Given the description of an element on the screen output the (x, y) to click on. 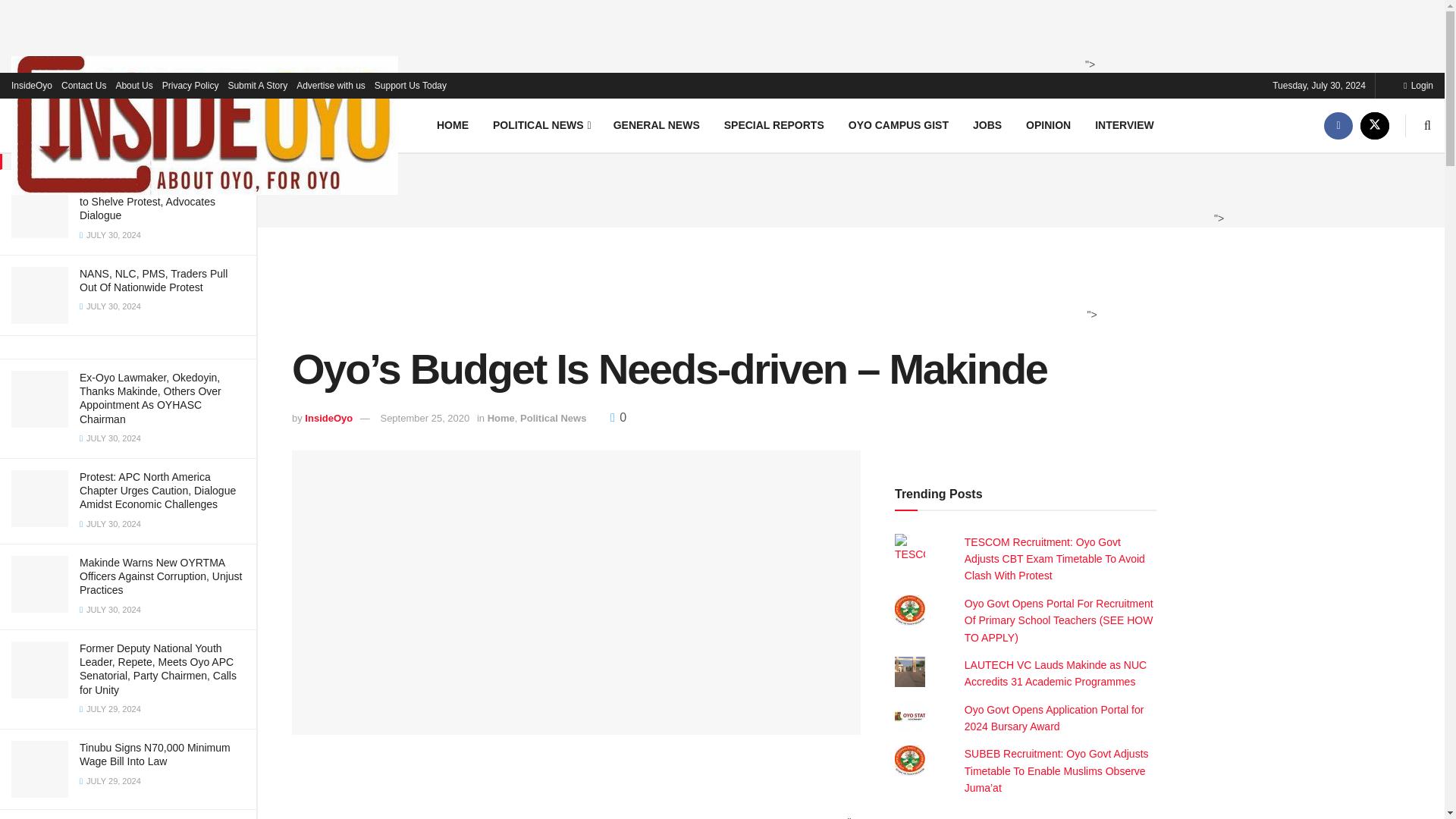
Support Us Today (410, 85)
Oyo Govt Opens Application Portal for 2024 Bursary Award (1053, 717)
Filter (227, 13)
HOME (452, 125)
Advertise with us (331, 85)
POLITICAL NEWS (540, 125)
InsideOyo (31, 85)
Login (1417, 85)
Privacy Policy (190, 85)
About Us (133, 85)
